Given the description of an element on the screen output the (x, y) to click on. 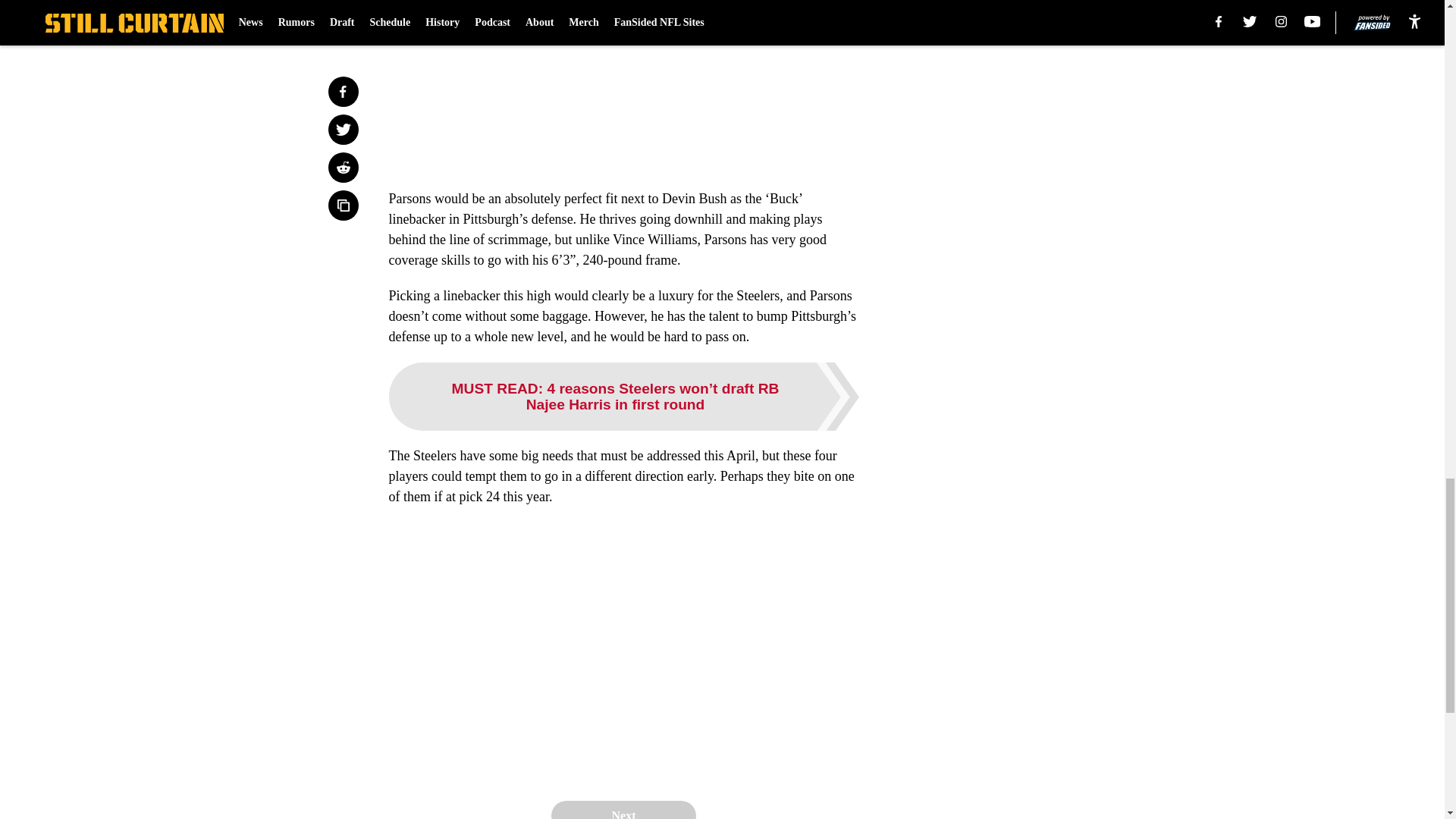
Next (622, 809)
